Given the description of an element on the screen output the (x, y) to click on. 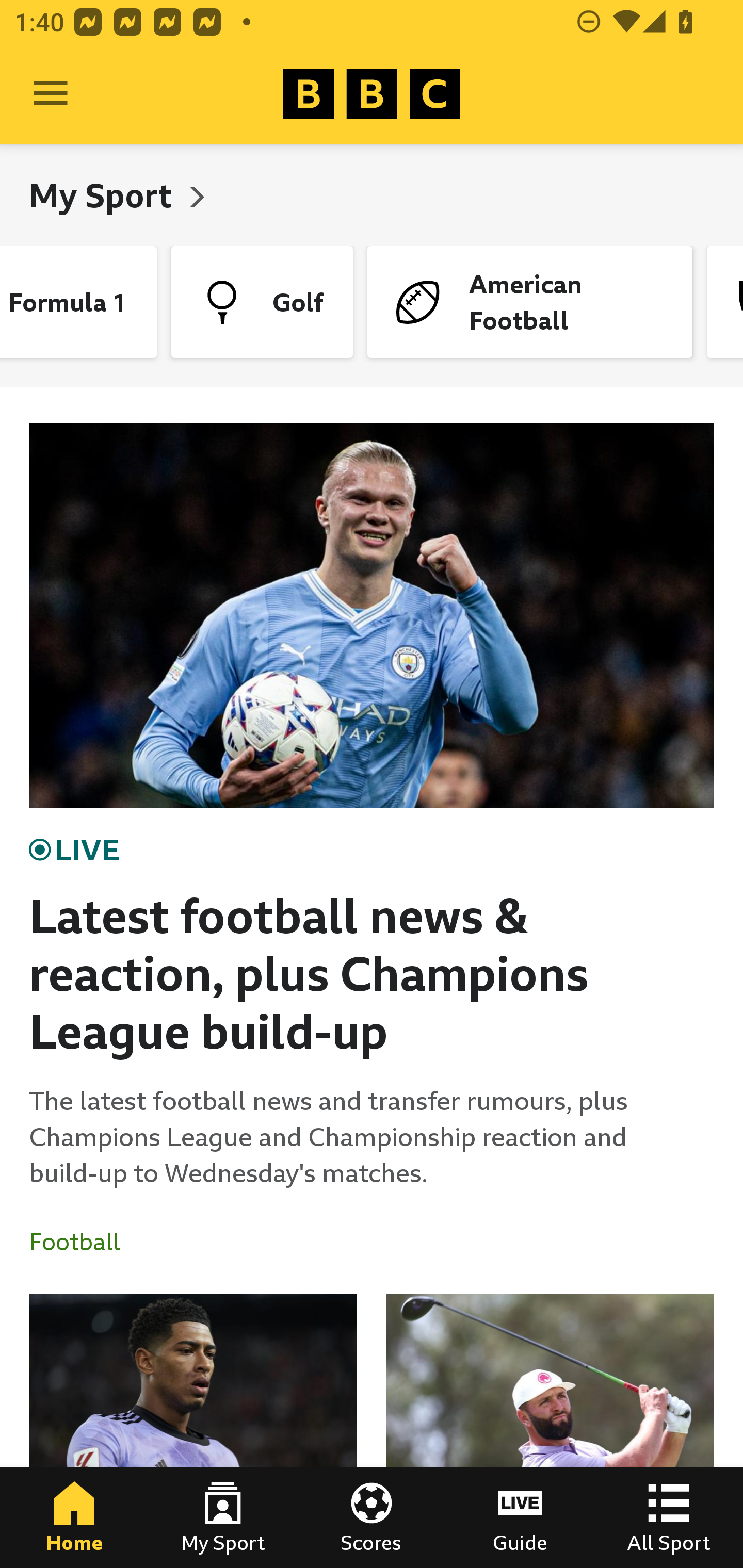
Open Menu (50, 93)
My Sport (104, 195)
Football In the section Football (81, 1241)
Real midfielder Bellingham banned for two games (192, 1430)
My Sport (222, 1517)
Scores (371, 1517)
Guide (519, 1517)
All Sport (668, 1517)
